Given the description of an element on the screen output the (x, y) to click on. 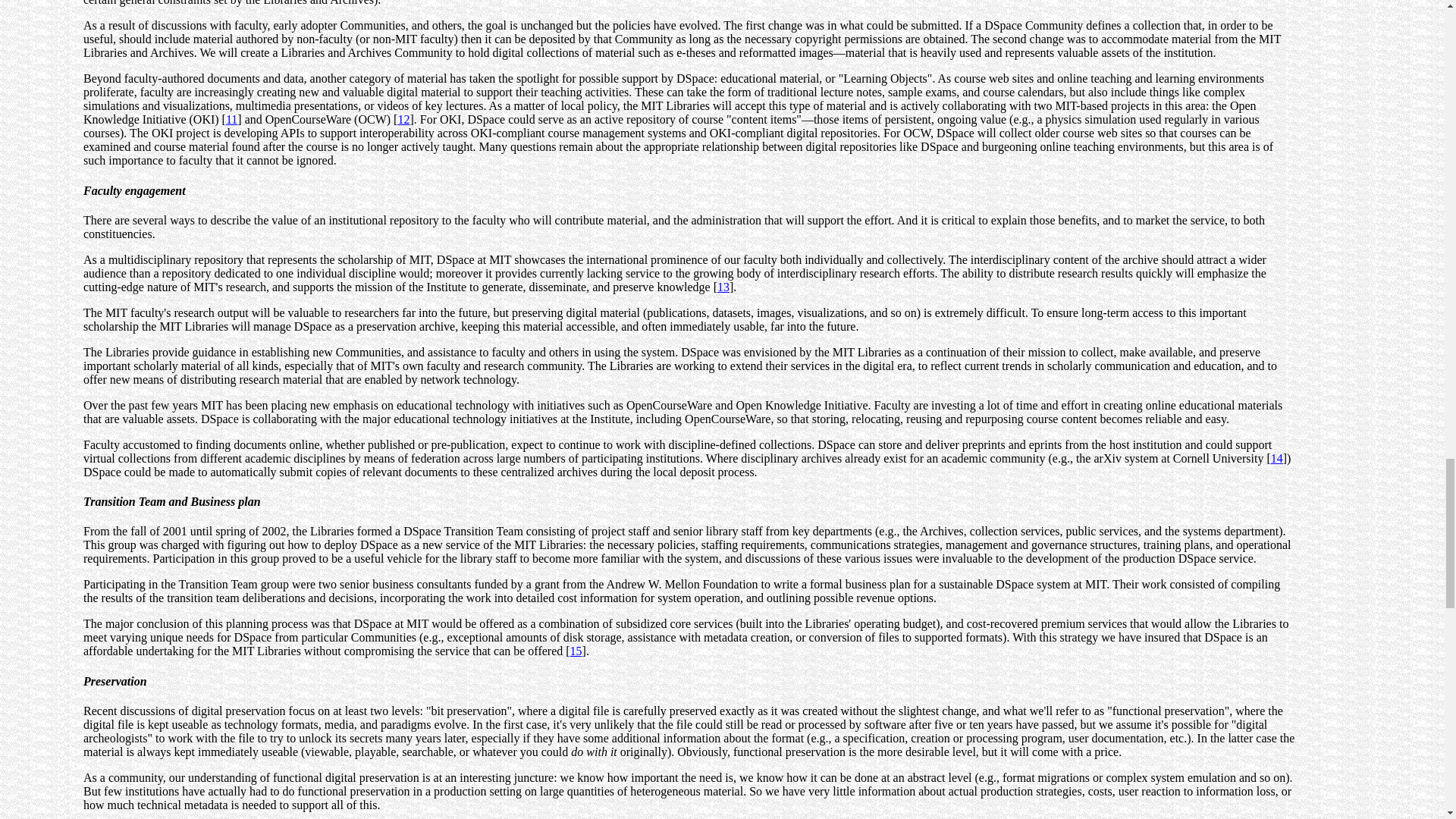
14 (1276, 458)
15 (576, 650)
12 (403, 119)
11 (231, 119)
13 (723, 286)
